Given the description of an element on the screen output the (x, y) to click on. 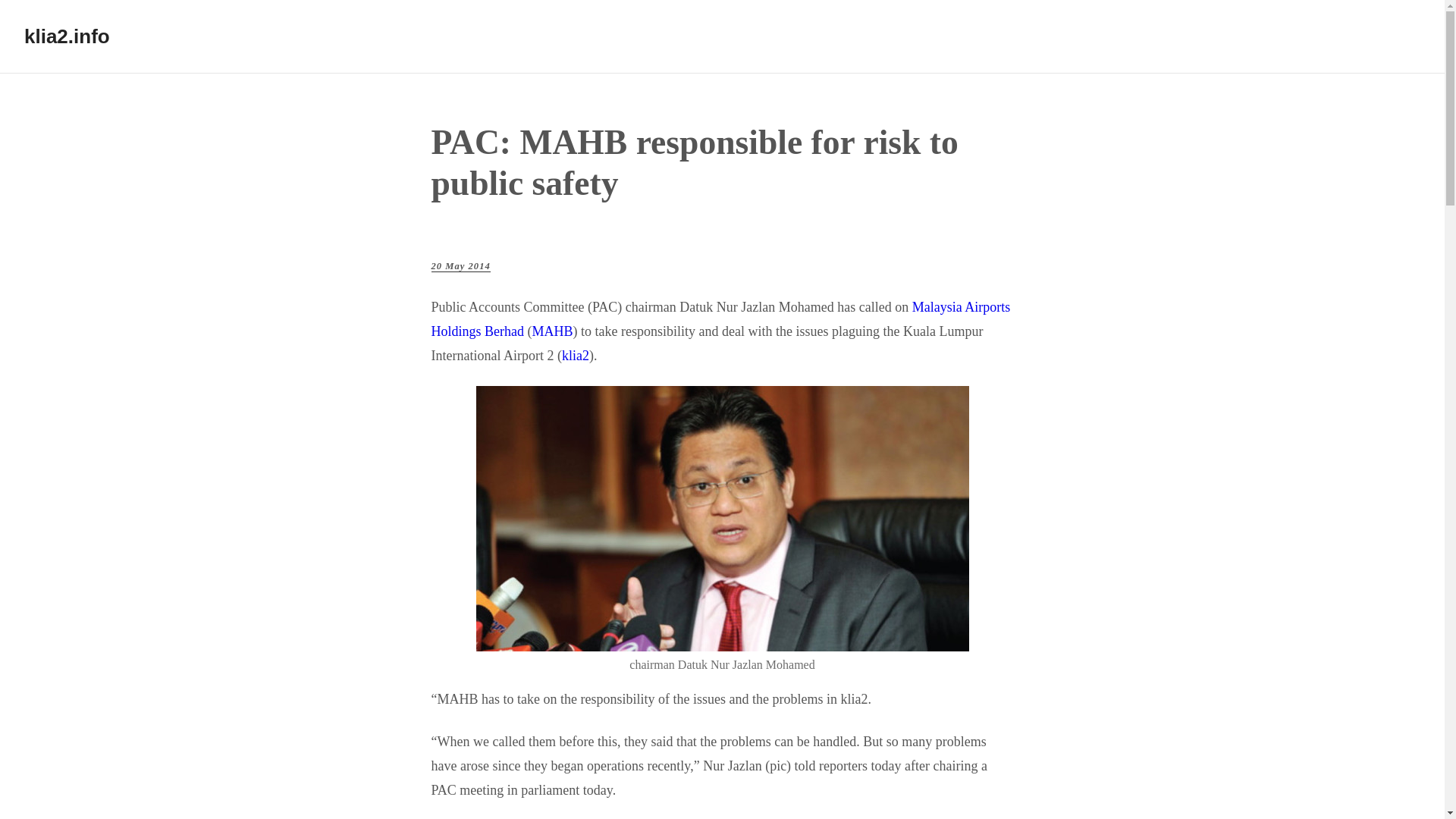
Malaysia Airports Holdings Berhad (720, 319)
MAHB (551, 331)
klia2.info (67, 36)
klia2 (575, 355)
